Given the description of an element on the screen output the (x, y) to click on. 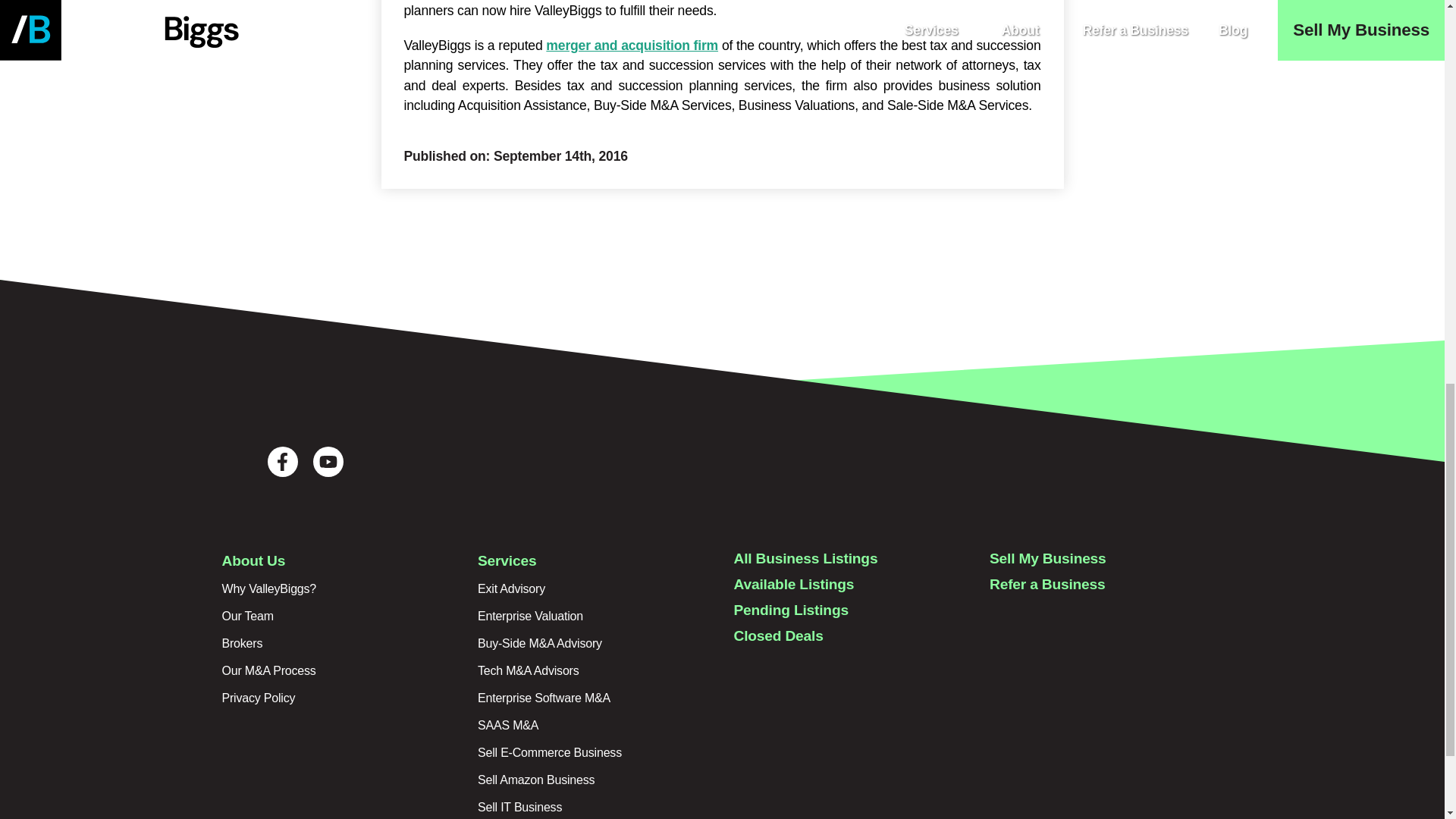
Brokers (241, 643)
Sell E-Commerce Business (549, 752)
merger and acquisition firm (631, 45)
Sell Amazon Business (535, 779)
All Business Listings (805, 558)
Our Team (247, 615)
Privacy Policy (258, 697)
Enterprise Valuation (530, 615)
Sell IT Business (519, 807)
Why ValleyBiggs? (268, 588)
Exit Advisory (510, 588)
